Given the description of an element on the screen output the (x, y) to click on. 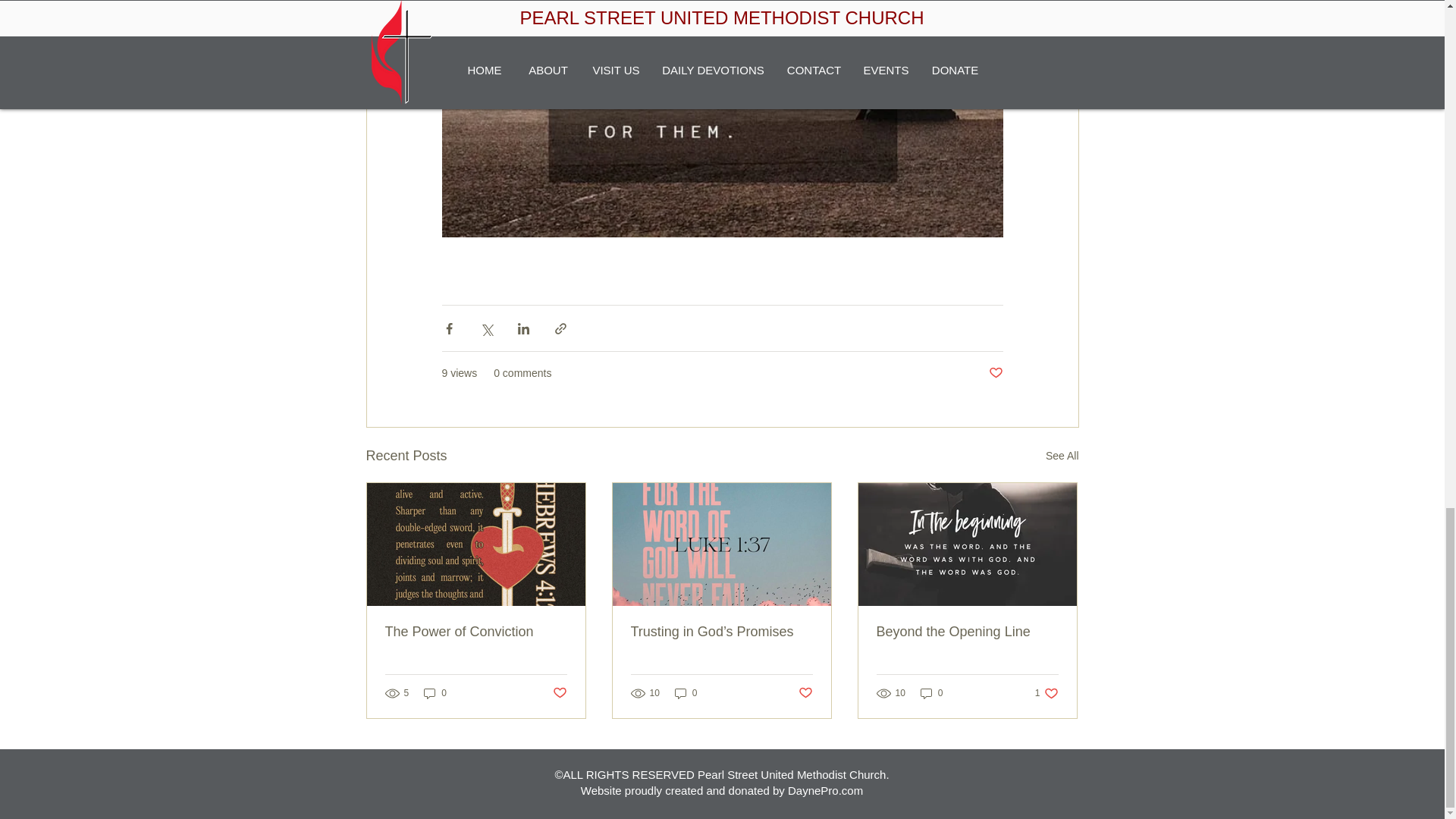
See All (1061, 455)
Post not marked as liked (558, 692)
Post not marked as liked (804, 692)
0 (685, 693)
0 (1046, 693)
Post not marked as liked (435, 693)
0 (995, 373)
The Power of Conviction (931, 693)
Beyond the Opening Line (476, 631)
